Given the description of an element on the screen output the (x, y) to click on. 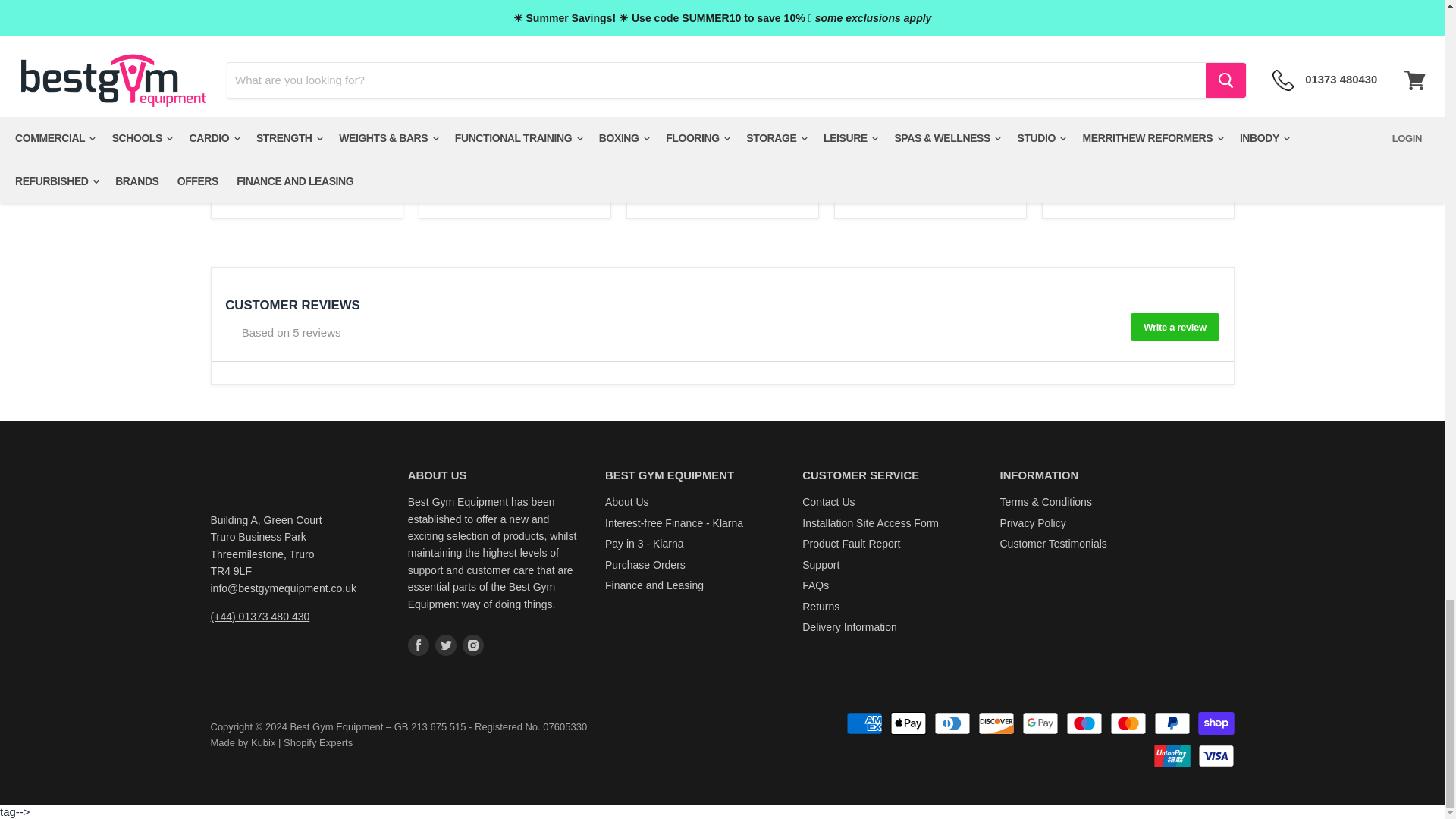
tel:01373480430 (260, 616)
Instagram (473, 645)
Twitter (446, 645)
Facebook (418, 645)
